Given the description of an element on the screen output the (x, y) to click on. 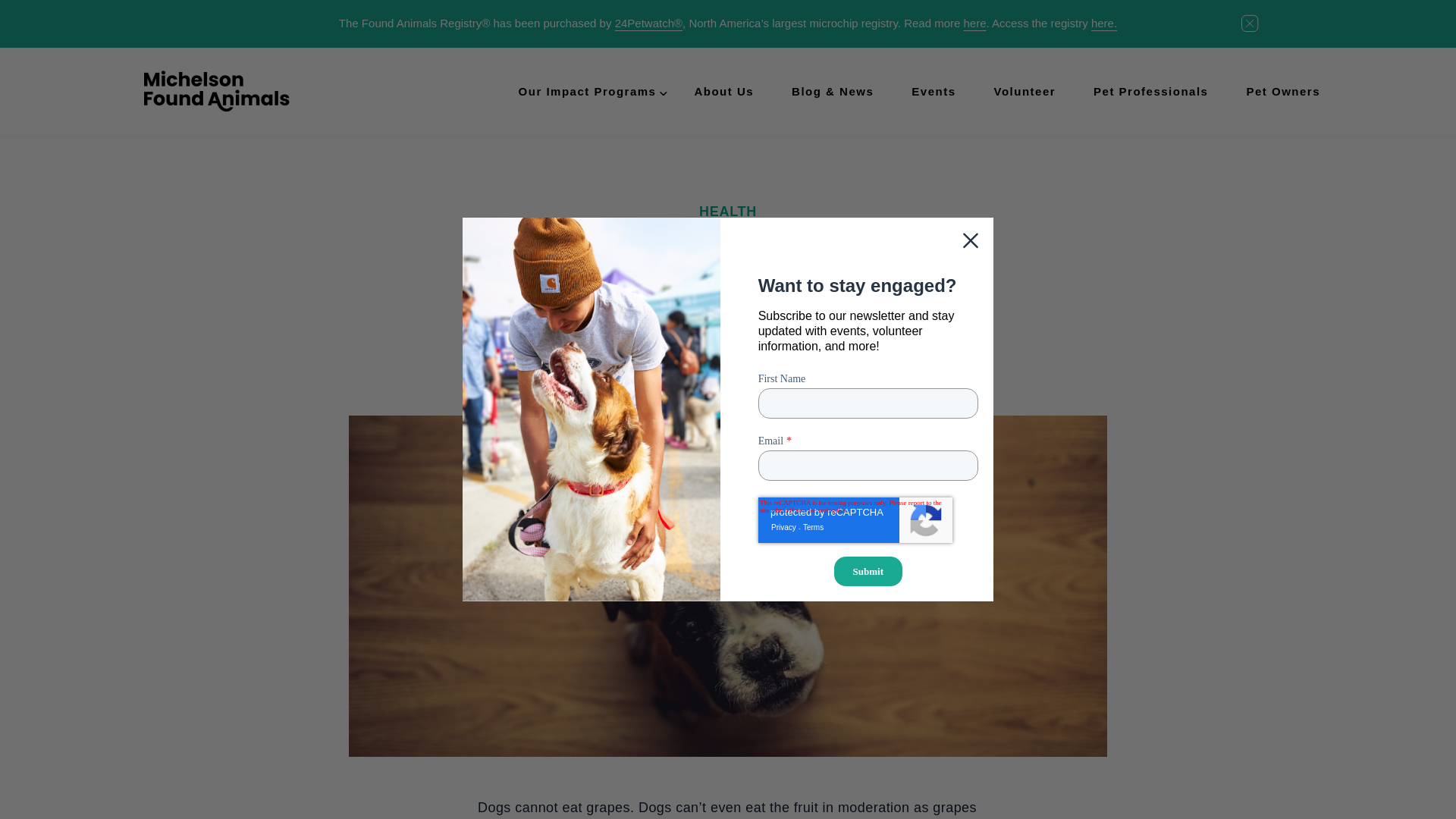
Our Impact Programs (587, 90)
Pet Owners (1283, 90)
About Us (724, 90)
here. (1103, 22)
here (973, 22)
Volunteer (1023, 90)
Pet Professionals (1150, 90)
